Given the description of an element on the screen output the (x, y) to click on. 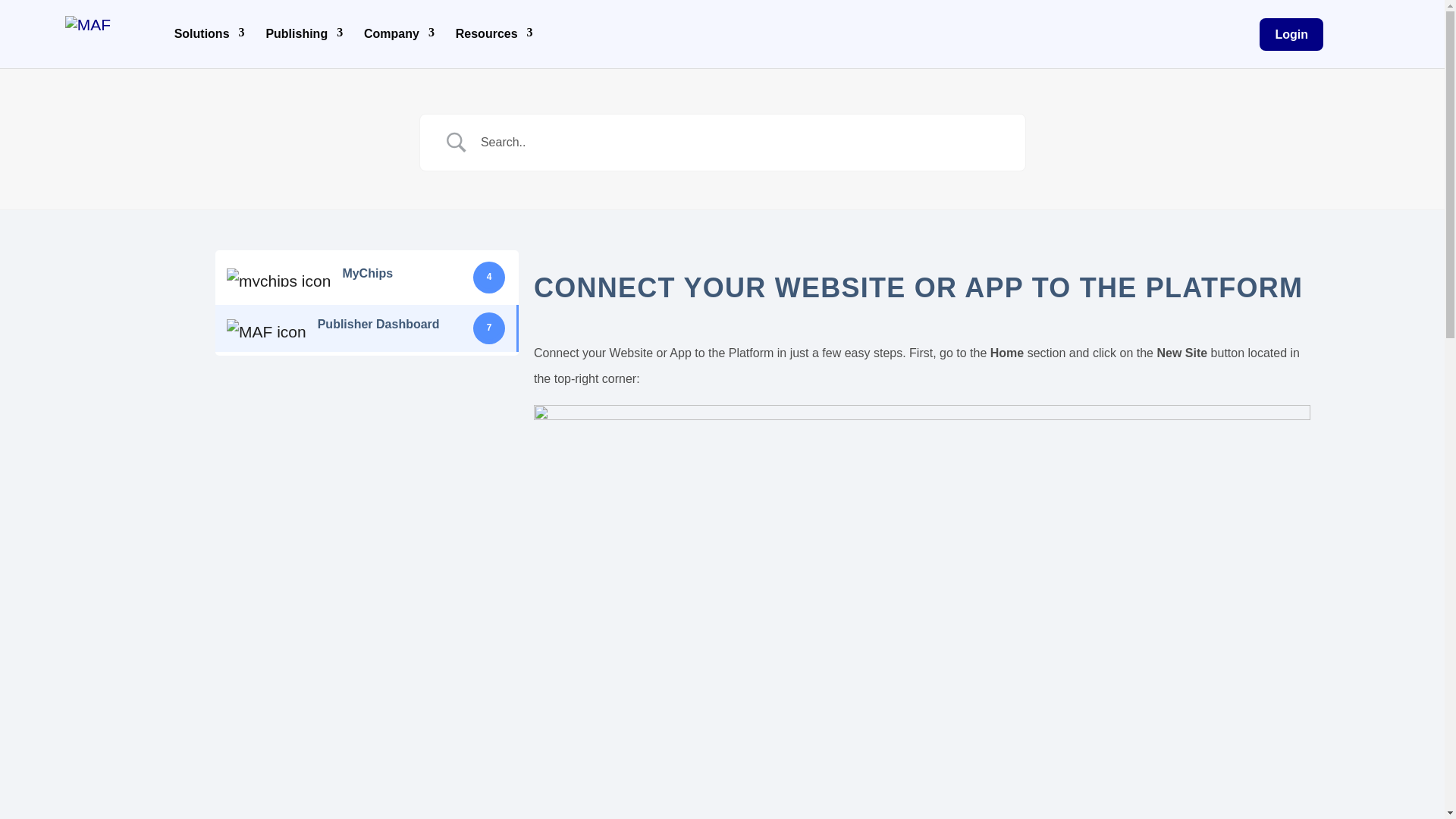
Publishing (303, 33)
Resources (493, 33)
Login (1291, 34)
Solutions (209, 33)
Company (398, 33)
